Given the description of an element on the screen output the (x, y) to click on. 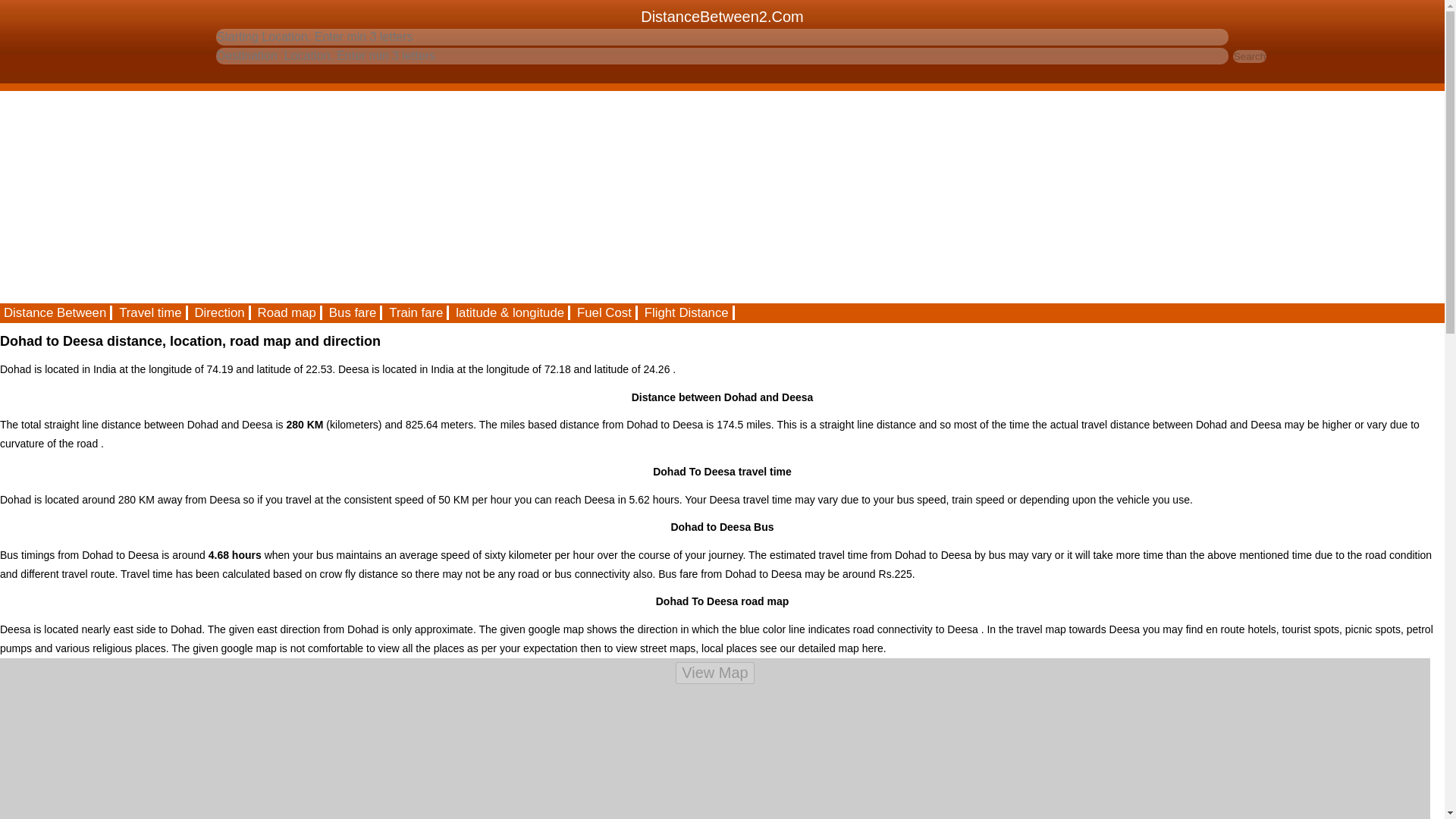
View Map (714, 672)
Search (1249, 56)
Bus fare (353, 312)
Search (1249, 56)
Fuel Cost (605, 312)
Flight Distance (687, 312)
Train fare (416, 312)
Road map (287, 312)
Travel time (151, 312)
